Given the description of an element on the screen output the (x, y) to click on. 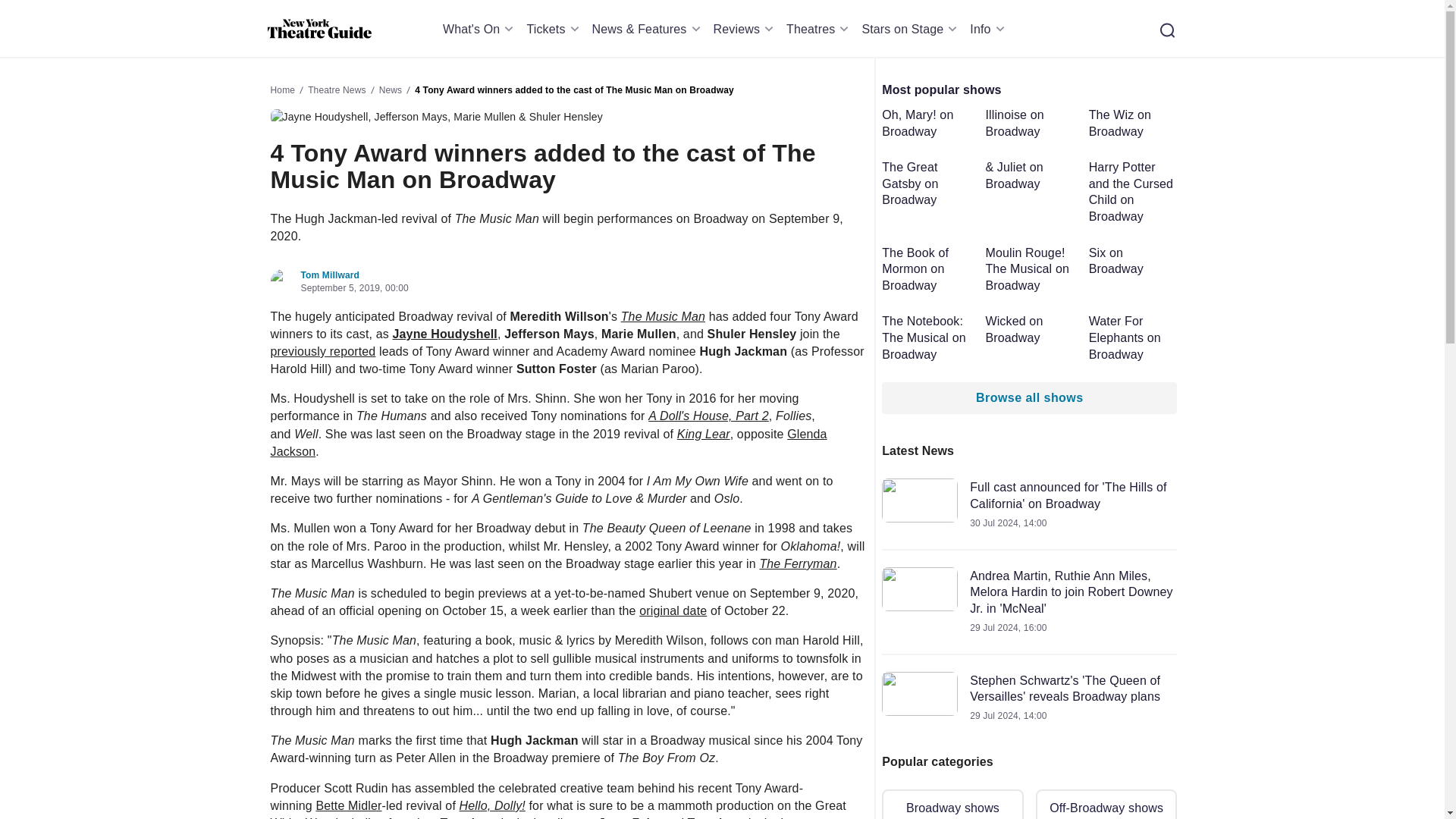
Reviews (745, 28)
Read more about Wicked on Broadway (1029, 328)
Read more about Oh, Mary! on Broadway (926, 123)
Read more about The Wiz on Broadway (1133, 123)
Read more about Moulin Rouge! The Musical on Broadway (1029, 269)
Home (318, 28)
Theatres (819, 28)
Read more about The Book of Mormon on Broadway (926, 269)
Read more about Water For Elephants on Broadway (1133, 337)
Tickets (554, 28)
Read more about The Great Gatsby on Broadway (926, 183)
What's On (480, 28)
Read more about Six on Broadway (1133, 260)
Read more about Illinoise on Broadway (1029, 123)
